Given the description of an element on the screen output the (x, y) to click on. 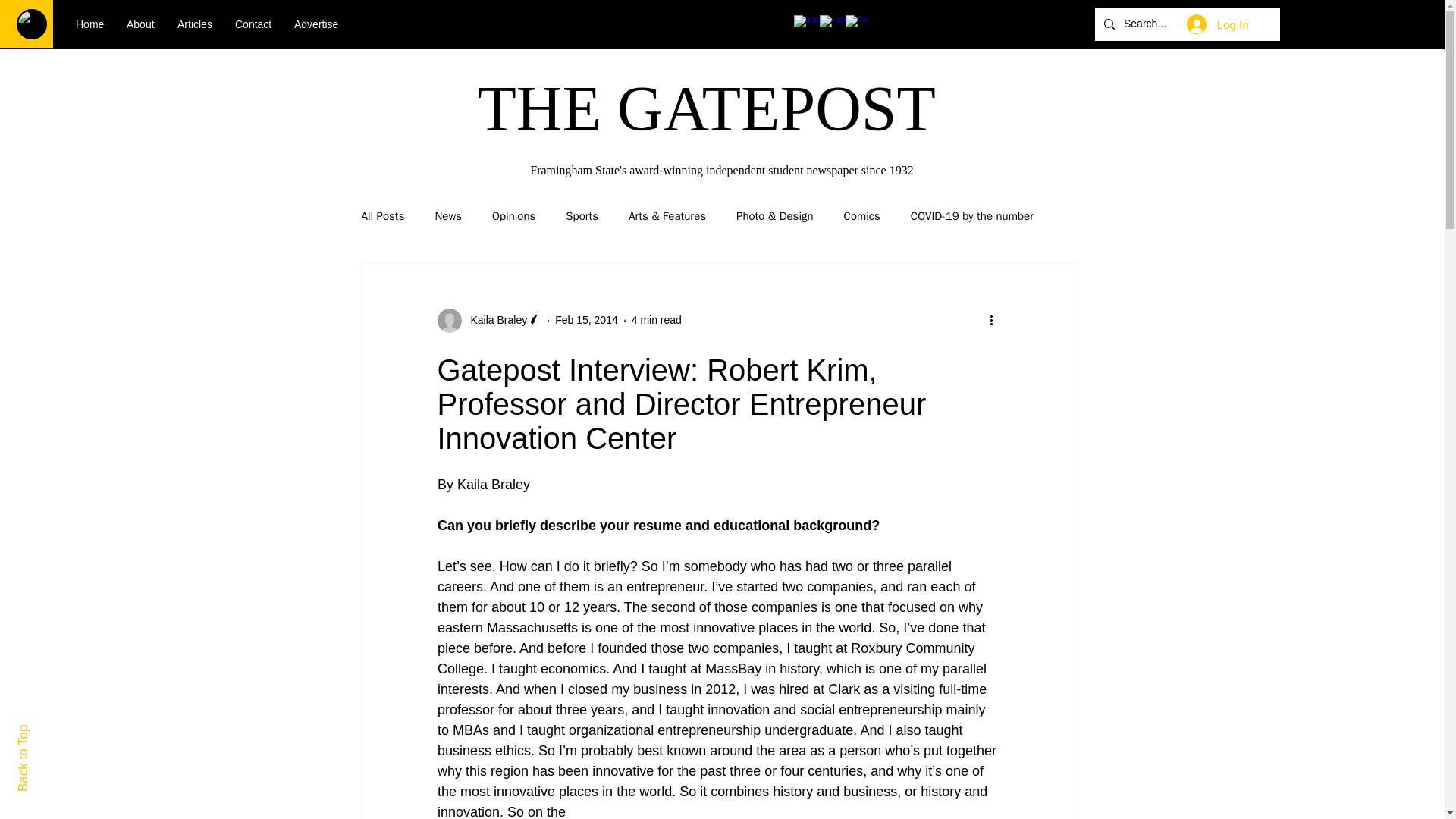
Contact (253, 24)
Articles (194, 24)
About (140, 24)
Home (89, 24)
Advertise (315, 24)
All Posts (382, 216)
News (447, 216)
Kaila Braley (494, 320)
Feb 15, 2014 (585, 319)
Comics (862, 216)
